Given the description of an element on the screen output the (x, y) to click on. 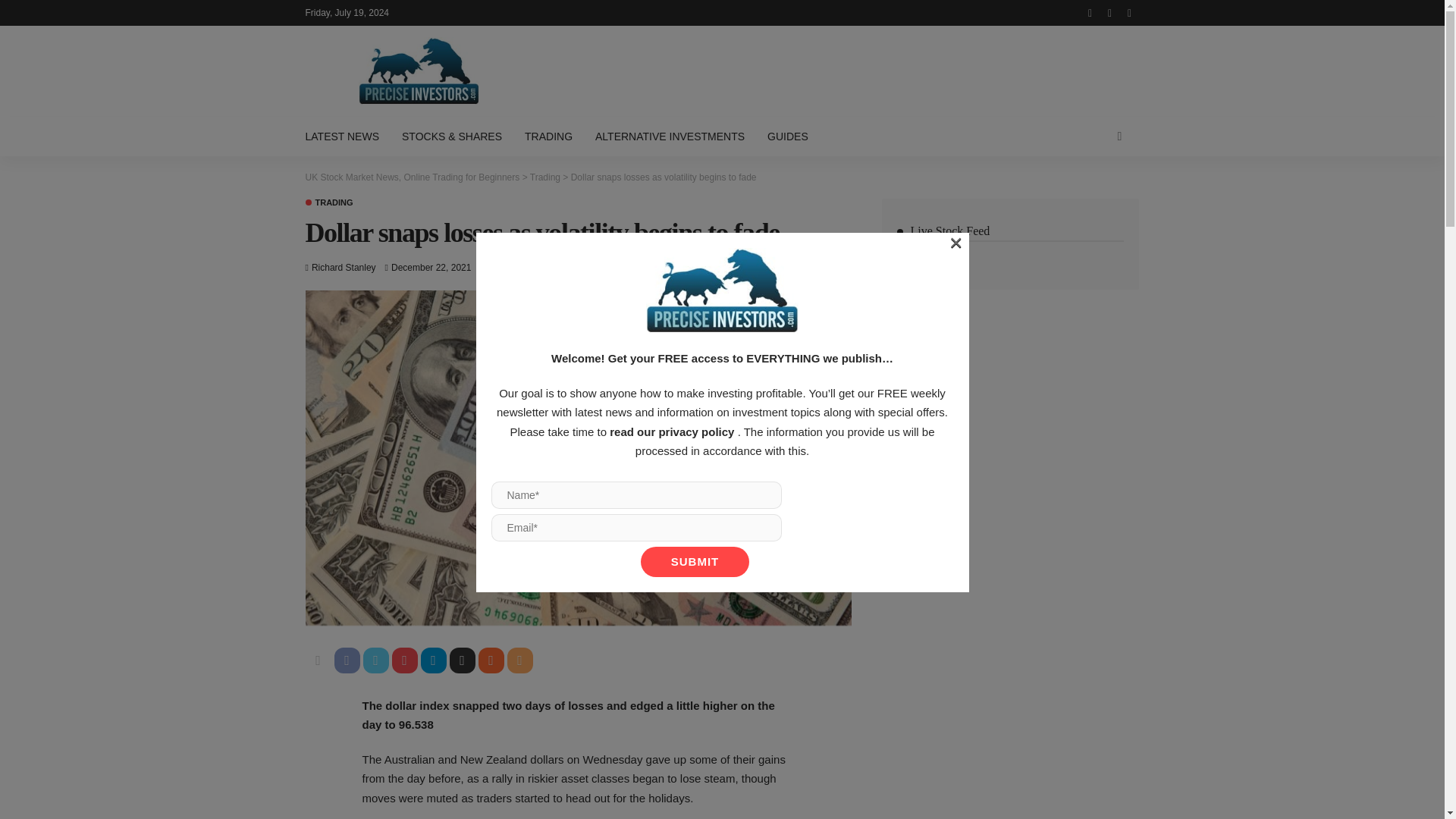
Trading (544, 176)
LATEST NEWS (347, 136)
Submit (694, 562)
TRADING (548, 136)
UK Stock Market News, Online Trading for Beginners (411, 176)
GUIDES (787, 136)
ALTERNATIVE INVESTMENTS (669, 136)
TRADING (328, 203)
Go to UK Stock Market News, Online Trading for Beginners. (411, 176)
search (1118, 136)
Richard Stanley (343, 267)
Go to the Trading Category archives. (544, 176)
Trading (328, 203)
